Given the description of an element on the screen output the (x, y) to click on. 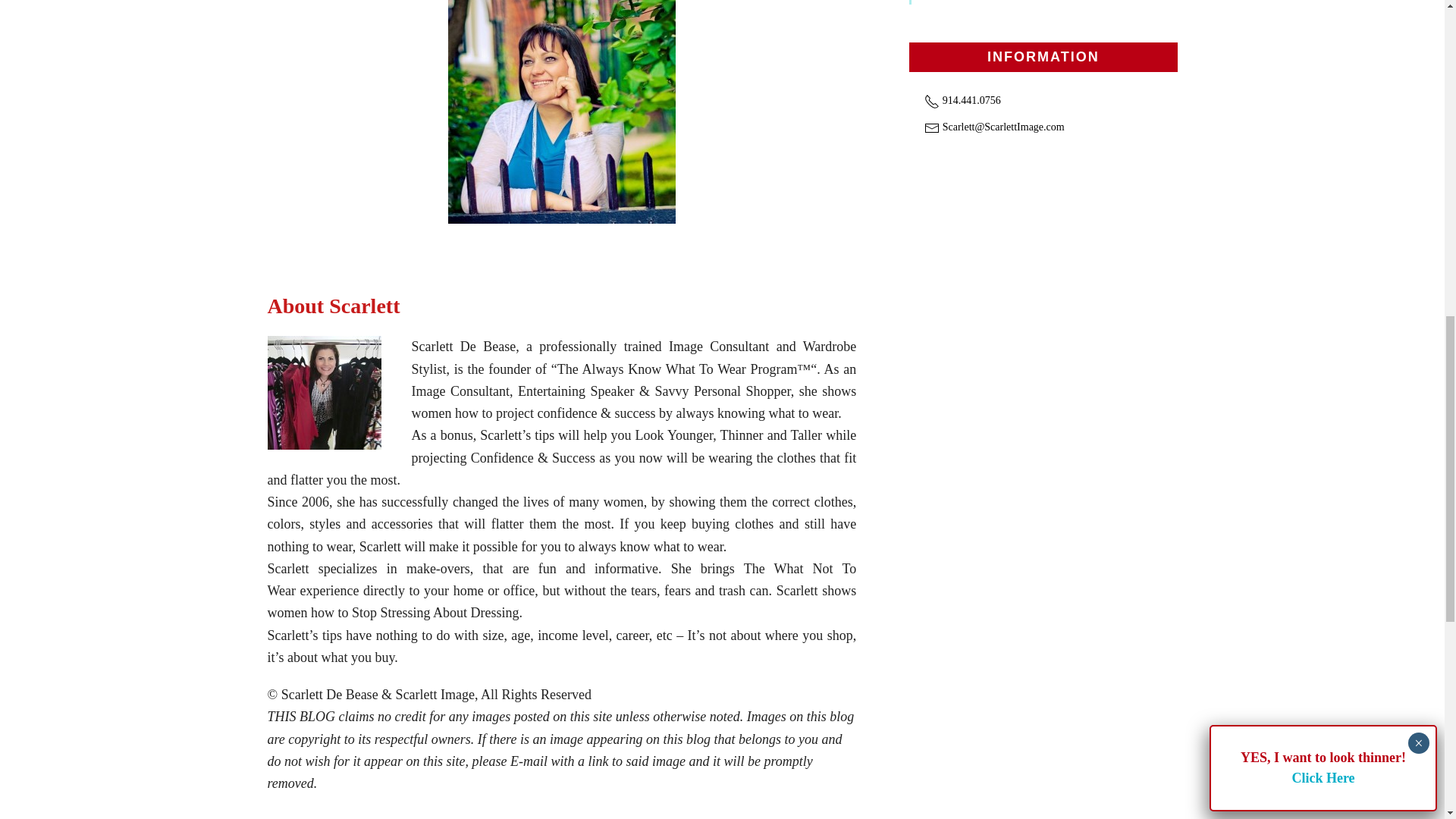
914.441.0756 (962, 100)
